Given the description of an element on the screen output the (x, y) to click on. 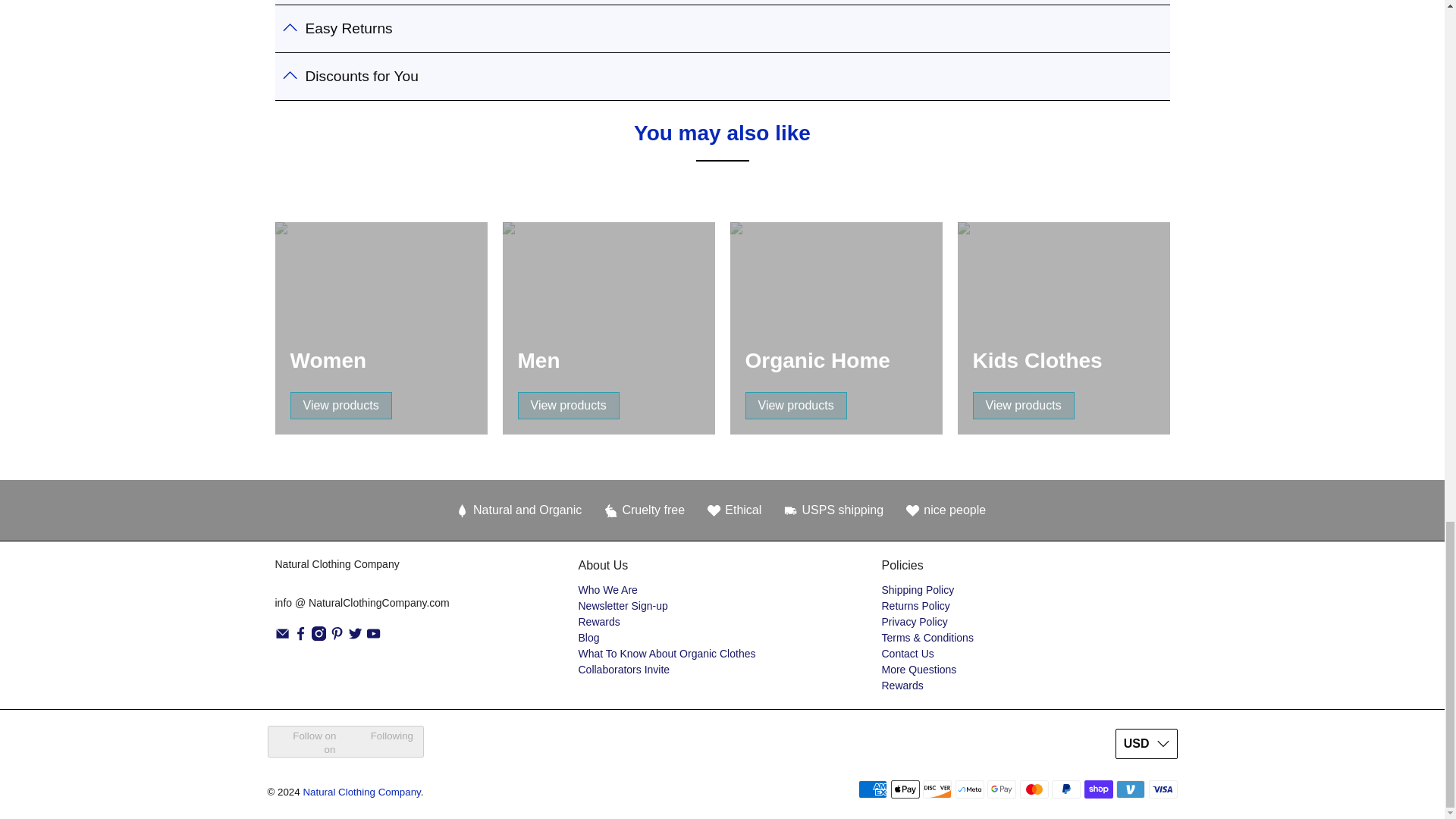
Natural Clothing Company on Instagram (318, 636)
Natural Clothing Company on Twitter (354, 636)
Natural Clothing Company on Pinterest (336, 636)
Email Natural Clothing Company (281, 636)
Natural Clothing Company (360, 575)
Natural Clothing Company on YouTube (373, 636)
Natural Clothing Company on Facebook (300, 636)
